Given the description of an element on the screen output the (x, y) to click on. 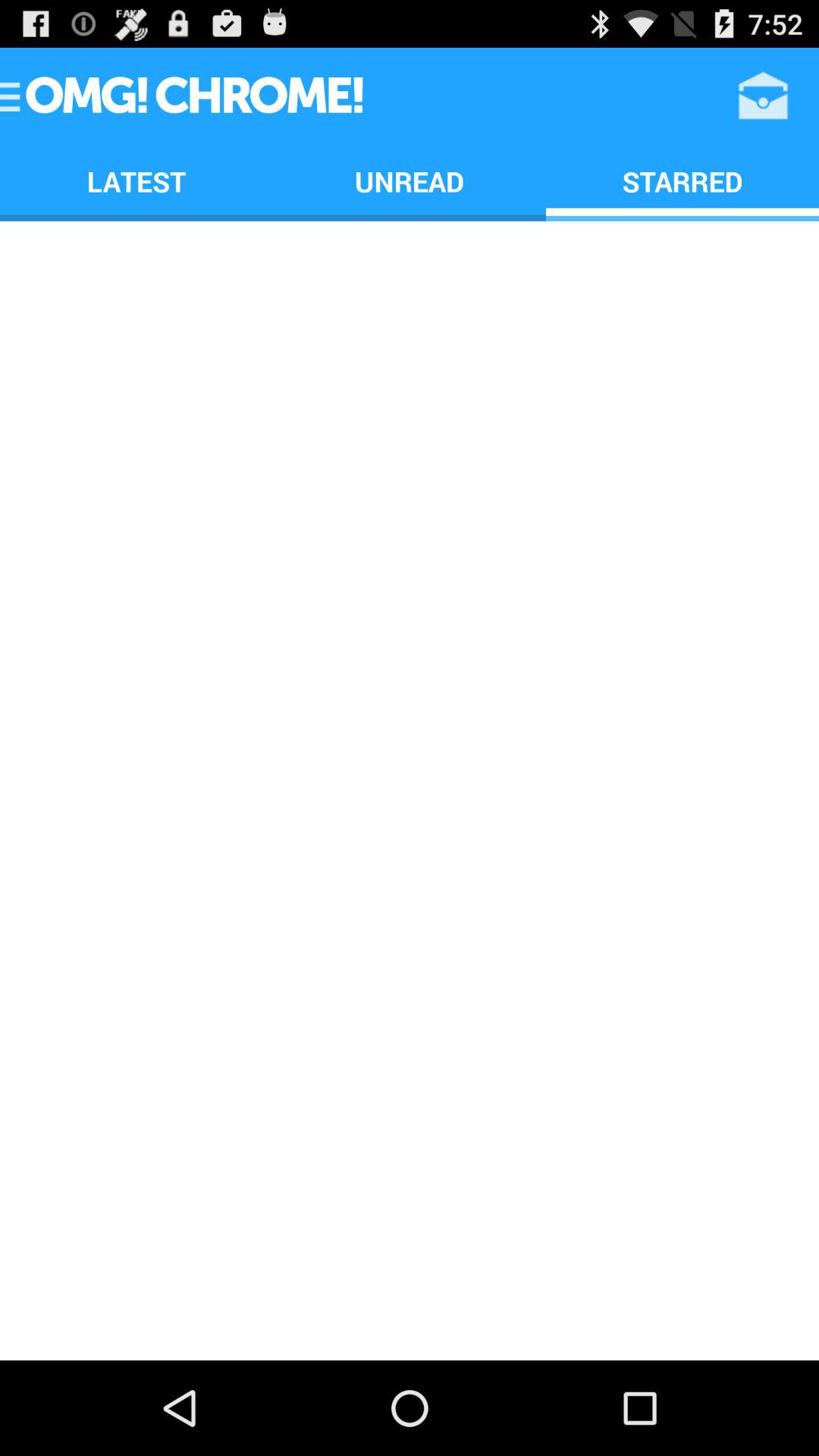
click app to the left of unread (136, 181)
